Given the description of an element on the screen output the (x, y) to click on. 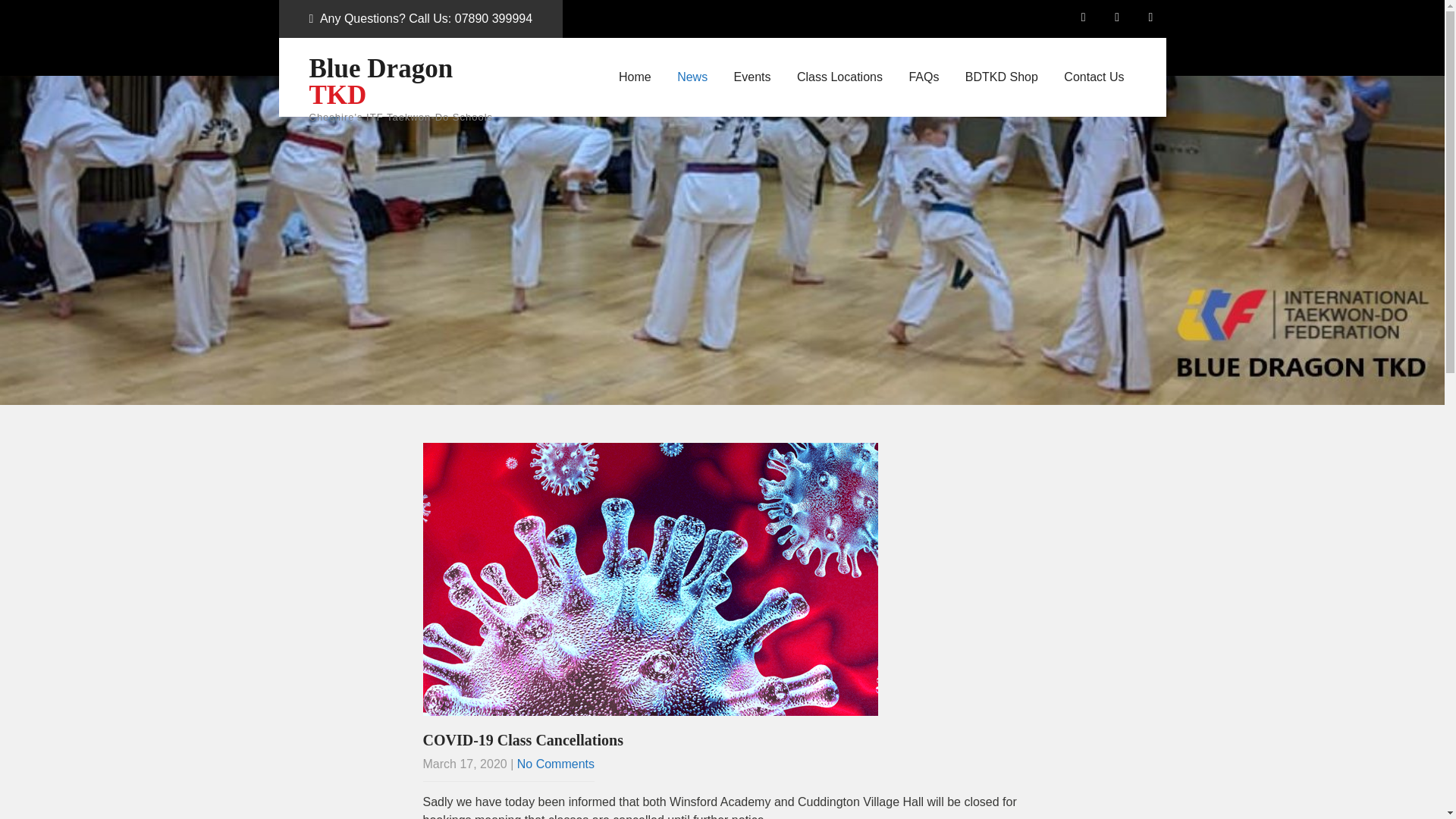
fab fa-facebook-f (1083, 19)
Class Locations (839, 77)
fab fa-twitter (1150, 19)
News (692, 77)
BDTKD Shop (1001, 77)
Events (752, 77)
FAQs (923, 77)
No Comments (555, 763)
Home (634, 77)
Contact Us (1093, 77)
Blue Dragon TKD (412, 81)
fab fa-facebook (1117, 19)
